Given the description of an element on the screen output the (x, y) to click on. 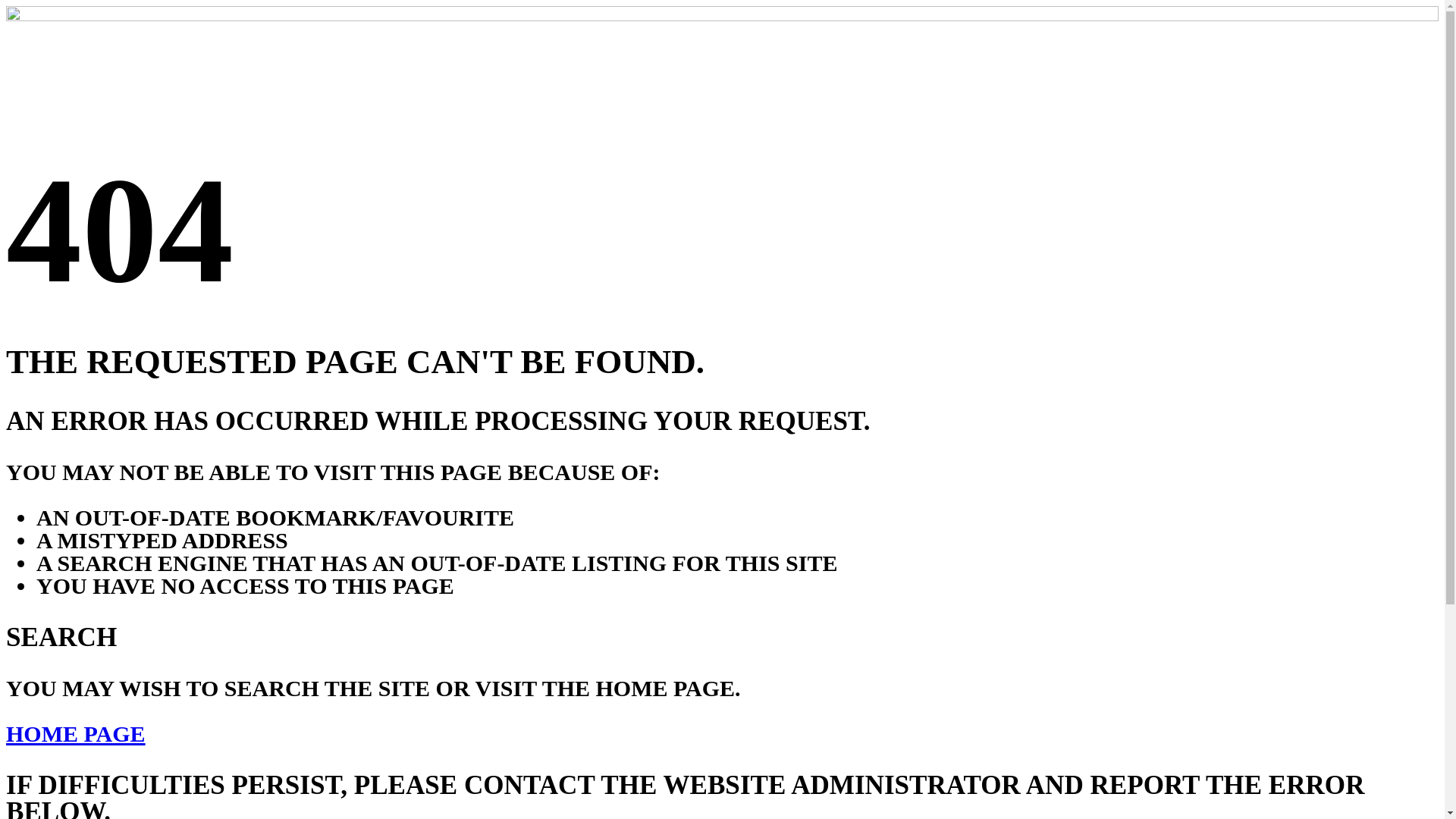
HOME PAGE Element type: text (75, 733)
Home Element type: hover (722, 16)
